Given the description of an element on the screen output the (x, y) to click on. 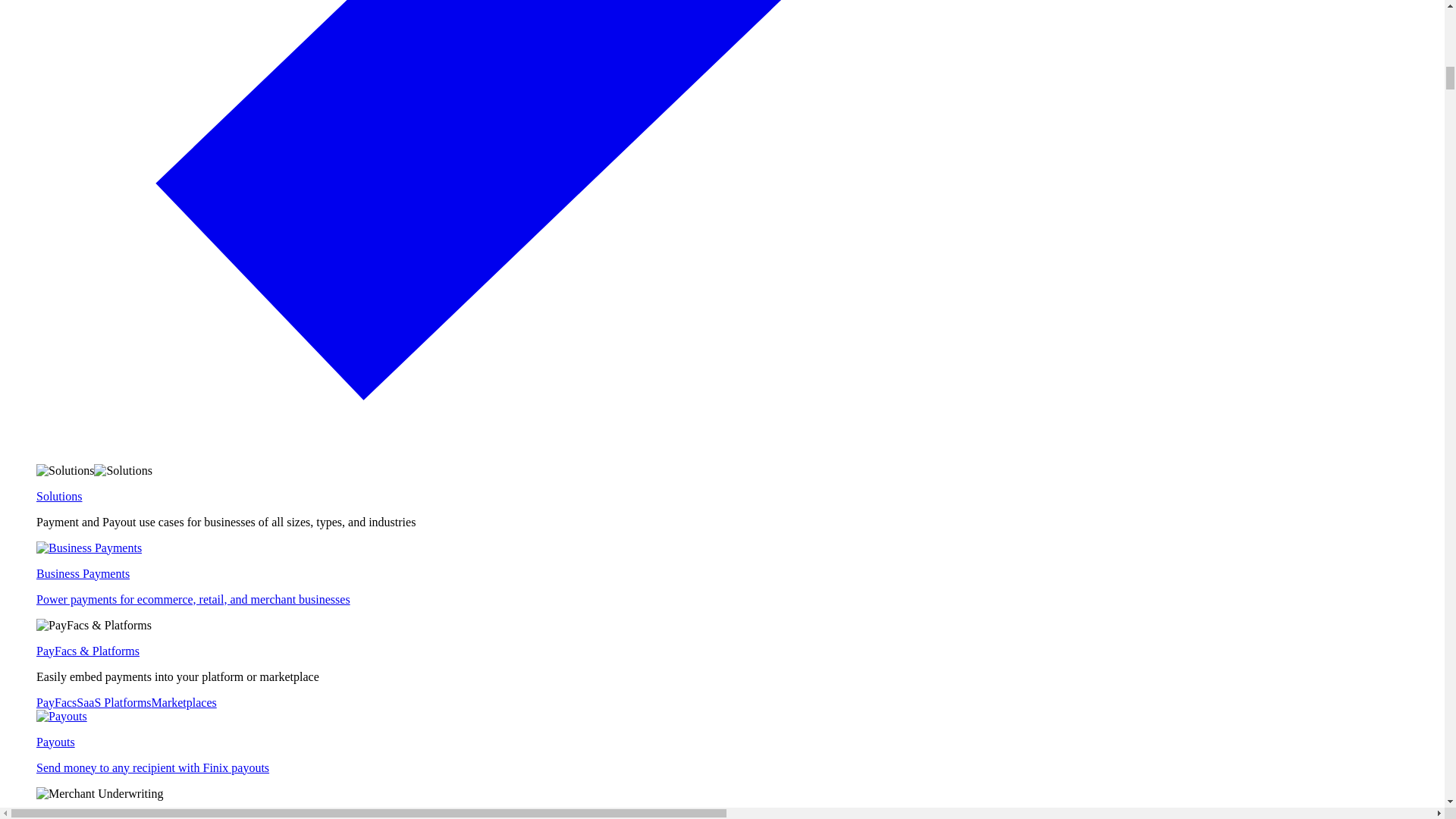
SaaS Platforms (114, 702)
PayFacs (56, 702)
Merchant Underwriting (93, 816)
Solutions (58, 495)
Marketplaces (737, 742)
